Given the description of an element on the screen output the (x, y) to click on. 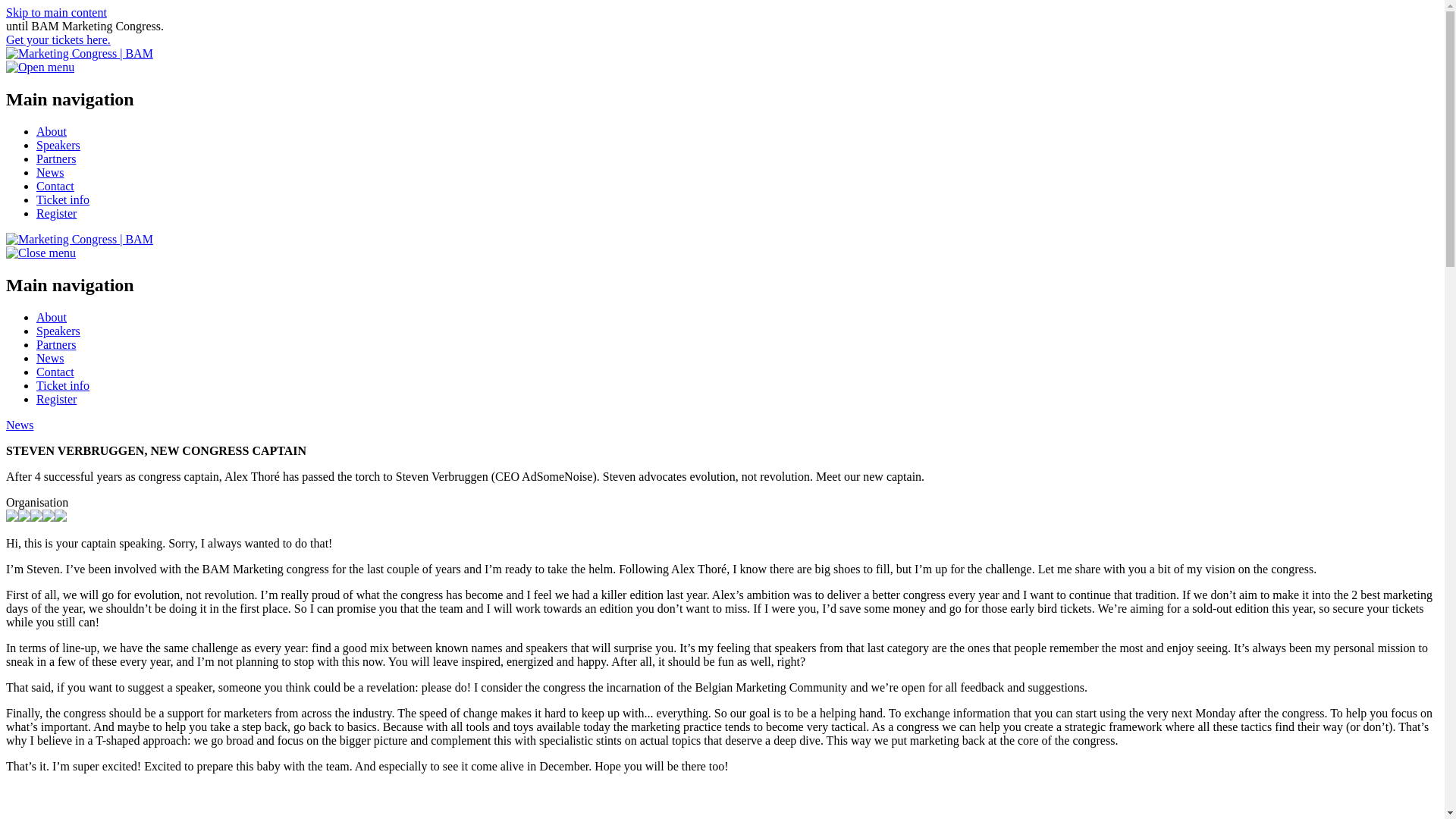
Register (56, 213)
Partners (55, 158)
About (51, 317)
Skip to main content (55, 11)
News (50, 172)
Contact (55, 185)
News (19, 424)
About (51, 131)
Speakers (58, 144)
Get your tickets here. (57, 39)
Register (56, 399)
Ticket info (62, 385)
News (50, 358)
Contact (55, 371)
Speakers (58, 330)
